Given the description of an element on the screen output the (x, y) to click on. 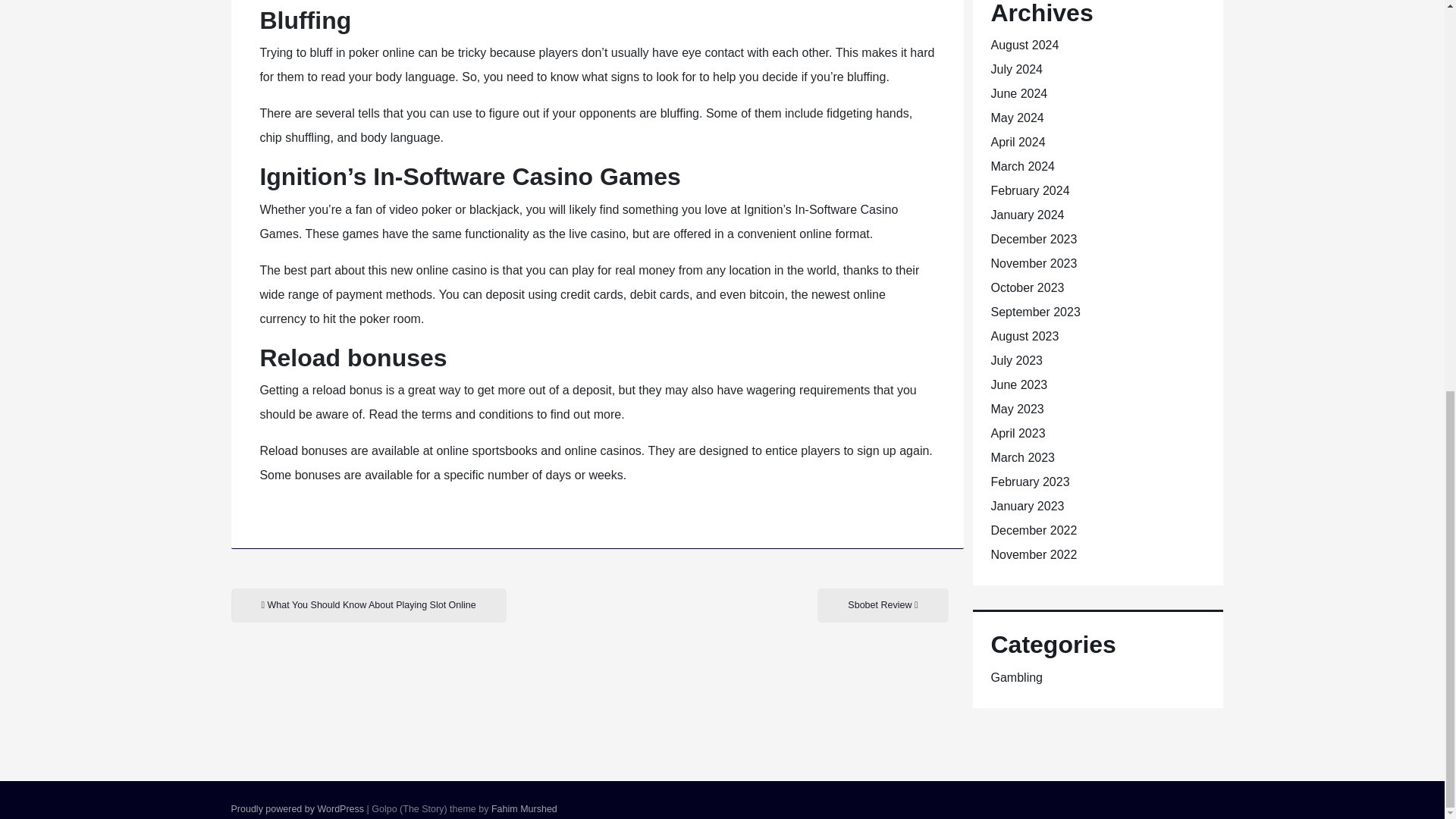
July 2024 (1016, 69)
February 2023 (1029, 481)
April 2023 (1017, 432)
Sbobet Review (881, 605)
March 2024 (1022, 165)
January 2024 (1027, 214)
September 2023 (1035, 311)
May 2023 (1016, 408)
November 2023 (1033, 263)
August 2024 (1024, 44)
